Given the description of an element on the screen output the (x, y) to click on. 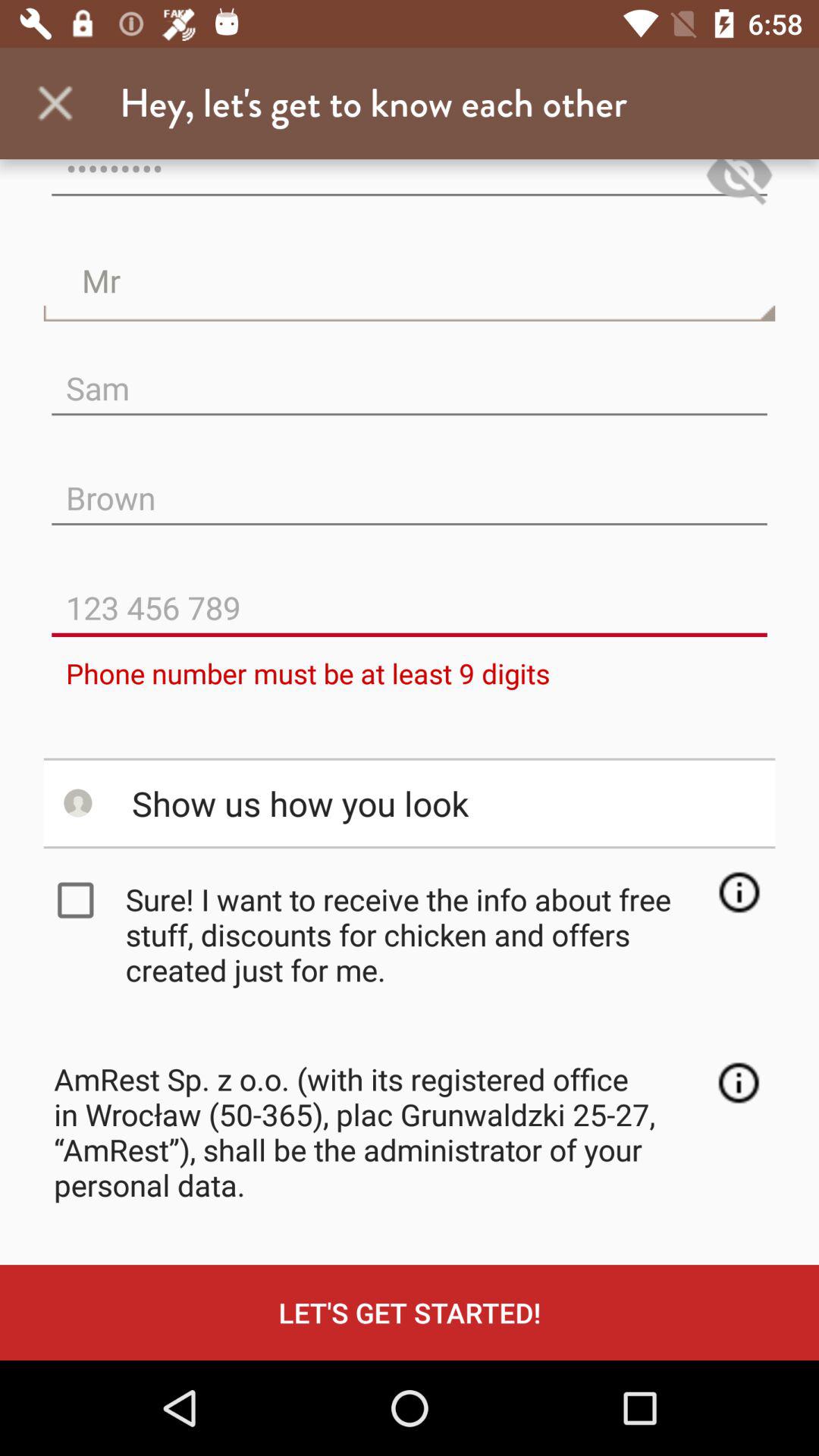
agree to receive news (79, 900)
